Given the description of an element on the screen output the (x, y) to click on. 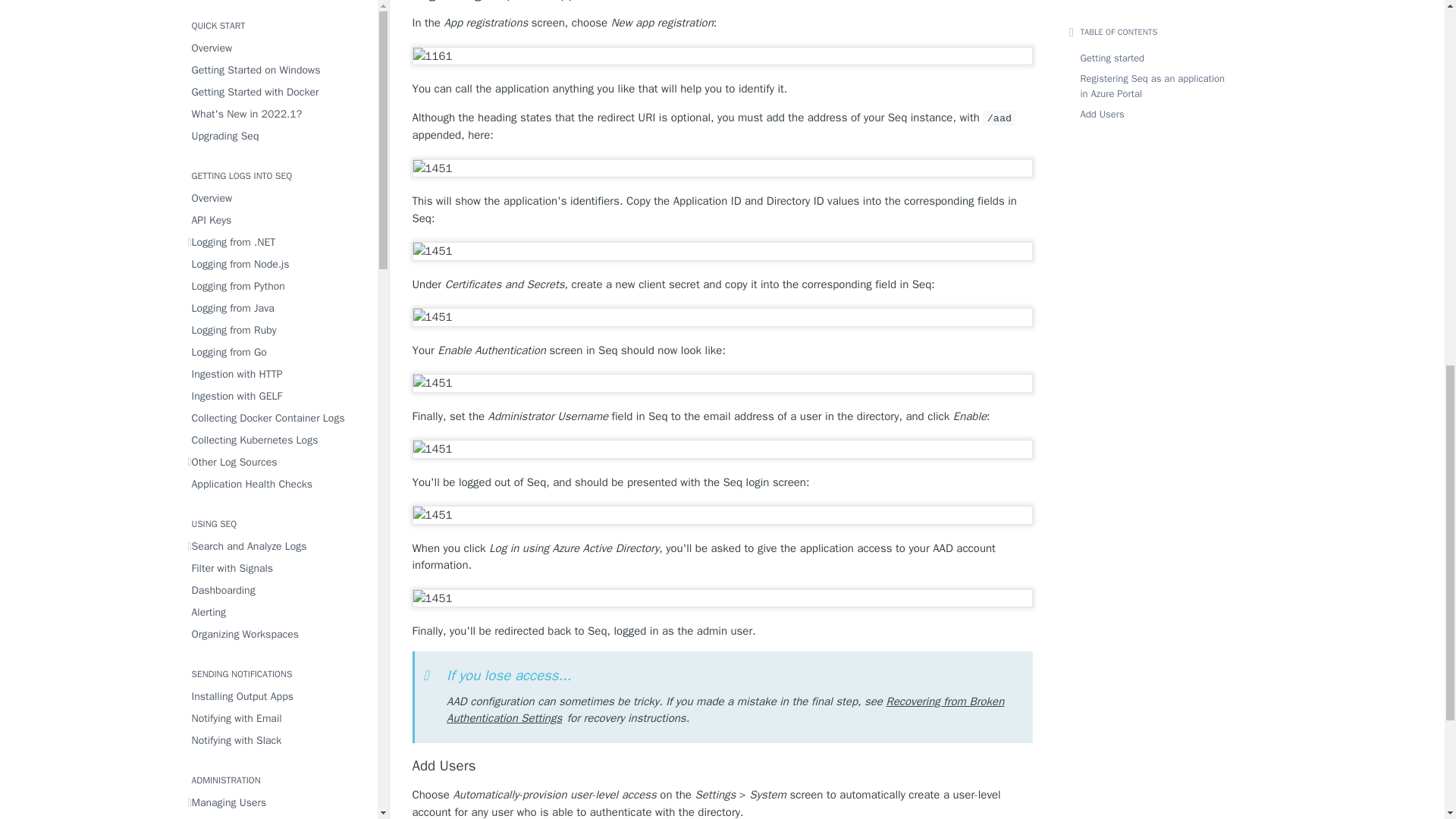
AAD-ProviderLogin.png (721, 598)
Add Users (722, 765)
AAD-EnableFinal.png (721, 448)
AAD-IDs.png (721, 251)
AAD-FilledIds.png (721, 383)
AAD-ClientSecret.png (721, 316)
AAD-NewAppRegistration.png (721, 56)
AAD-NewAppDetails.png (721, 168)
AAD-SeqLogin.png (721, 515)
